Given the description of an element on the screen output the (x, y) to click on. 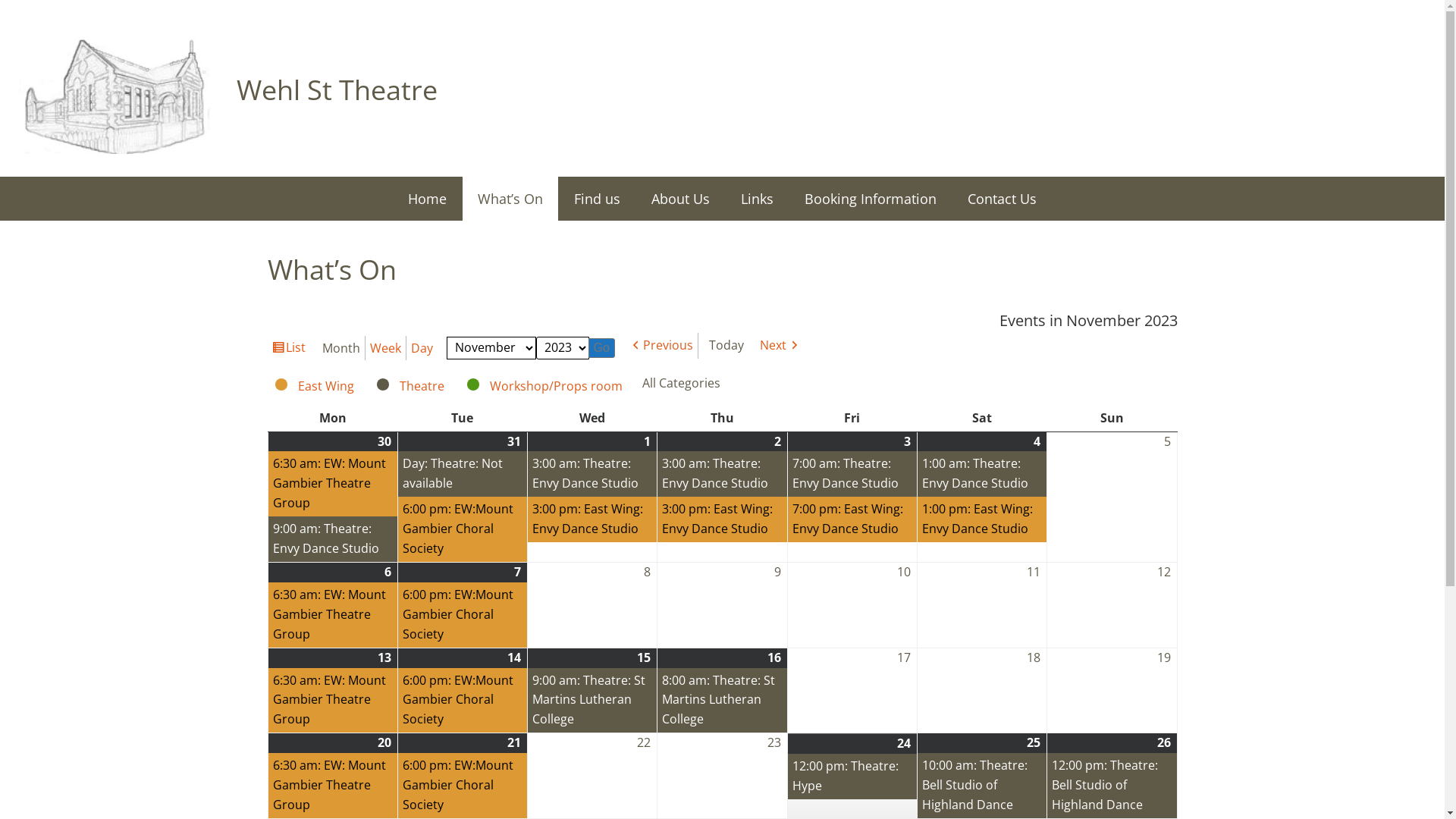
12:00 pm: Theatre: Hype Element type: text (851, 776)
1:00 pm: East Wing: Envy Dance Studio Element type: text (981, 519)
6:00 pm: EW:Mount Gambier Choral Society Element type: text (462, 614)
3:00 pm: East Wing: Envy Dance Studio Element type: text (591, 519)
Previous Element type: text (661, 345)
1:00 am: Theatre: Envy Dance Studio Element type: text (981, 473)
6:30 am: EW: Mount Gambier Theatre Group Element type: text (332, 483)
Links Element type: text (756, 198)
Week Element type: text (385, 347)
9:00 am: Theatre: St Martins Lutheran College Element type: text (591, 700)
7:00 am: Theatre: Envy Dance Studio Element type: text (851, 473)
Wehl St Theatre Logo Element type: hover (114, 89)
3:00 am: Theatre: Envy Dance Studio Element type: text (591, 473)
12:00 pm: Theatre: Bell Studio of Highland Dance Element type: text (1111, 785)
6:00 pm: EW:Mount Gambier Choral Society Element type: text (462, 785)
View as
List Element type: text (287, 347)
6:30 am: EW: Mount Gambier Theatre Group Element type: text (332, 785)
  Theatre Element type: text (410, 385)
6:00 pm: EW:Mount Gambier Choral Society Element type: text (462, 700)
Find us Element type: text (596, 198)
6:30 am: EW: Mount Gambier Theatre Group Element type: text (332, 700)
6:30 am: EW: Mount Gambier Theatre Group Element type: text (332, 614)
8:00 am: Theatre: St Martins Lutheran College Element type: text (721, 700)
Contact Us Element type: text (1001, 198)
Wehl St Theatre Element type: text (336, 89)
Home Element type: text (426, 198)
10:00 am: Theatre: Bell Studio of Highland Dance Element type: text (981, 785)
About Us Element type: text (680, 198)
  Workshop/Props room Element type: text (545, 385)
Booking Information Element type: text (870, 198)
6:00 pm: EW:Mount Gambier Choral Society Element type: text (462, 528)
Day: Theatre: Not available Element type: text (462, 473)
  East Wing Element type: text (314, 385)
Next Element type: text (780, 345)
Day Element type: text (421, 347)
3:00 am: Theatre: Envy Dance Studio Element type: text (721, 473)
9:00 am: Theatre: Envy Dance Studio Element type: text (332, 538)
7:00 pm: East Wing: Envy Dance Studio Element type: text (851, 519)
3:00 pm: East Wing: Envy Dance Studio Element type: text (721, 519)
Go Element type: text (601, 347)
